Given the description of an element on the screen output the (x, y) to click on. 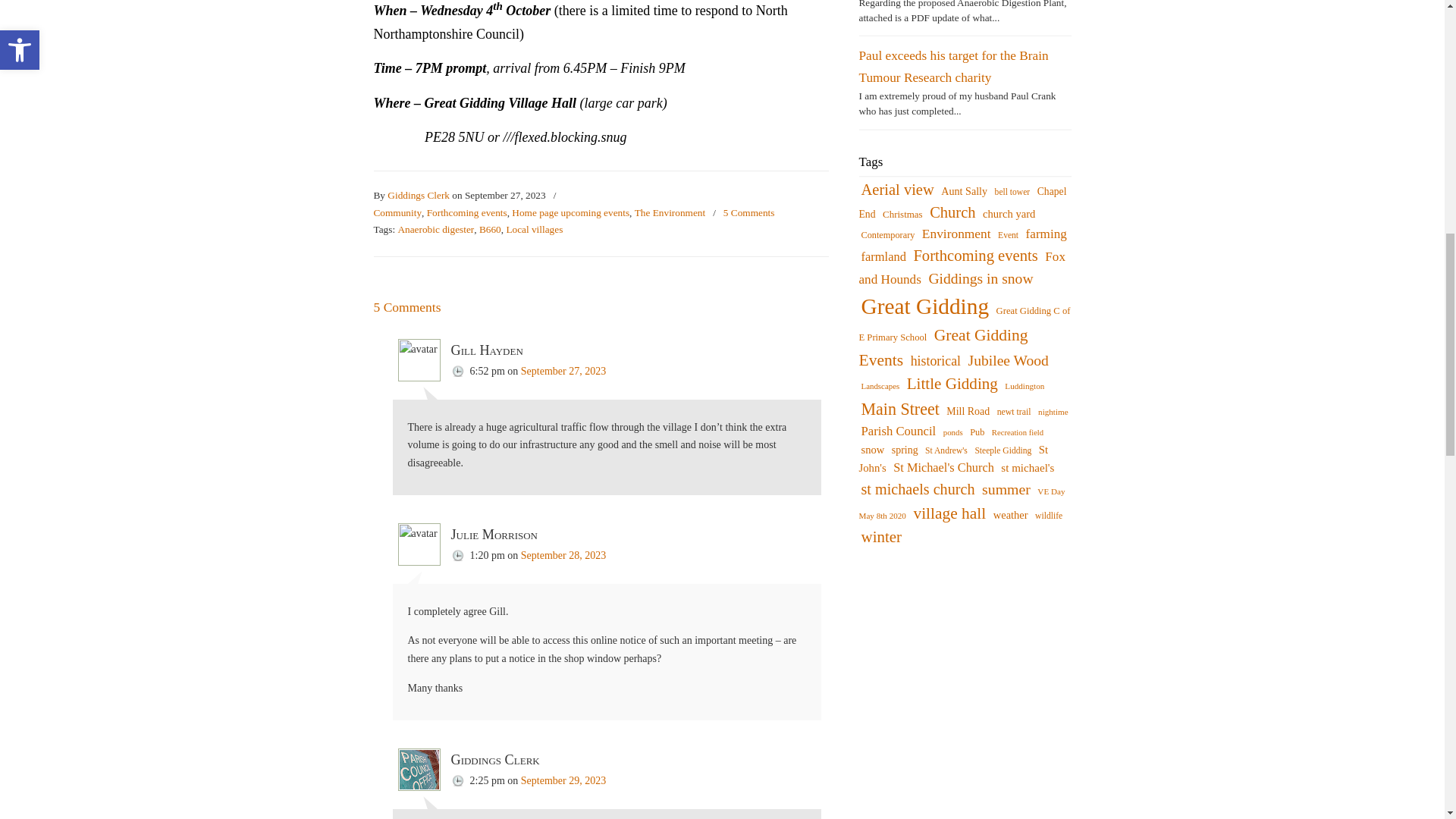
Posts by Giddings Clerk (418, 195)
September 28, 2023 (563, 555)
September 29, 2023 (563, 780)
September 27, 2023 (563, 370)
